Given the description of an element on the screen output the (x, y) to click on. 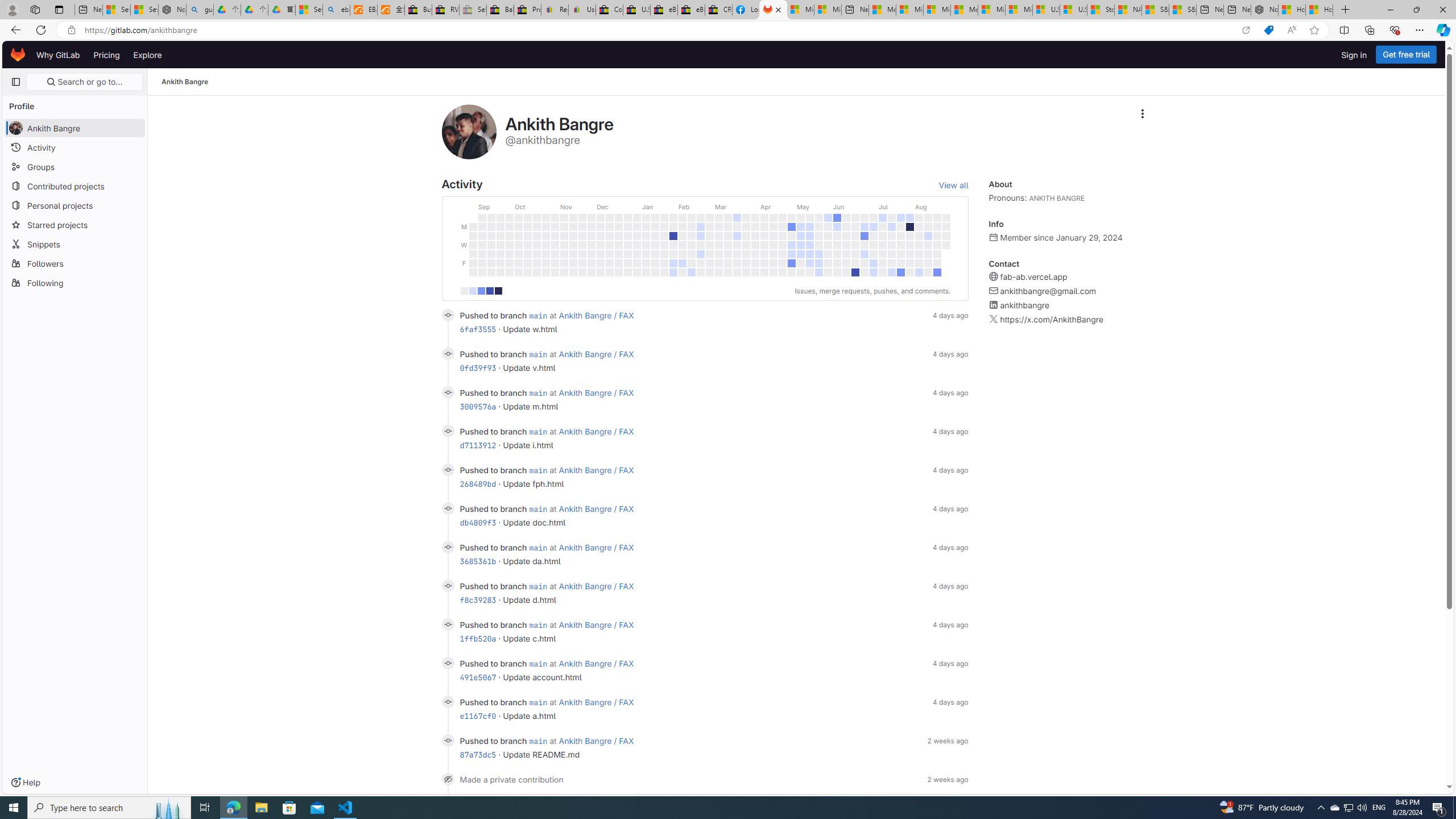
Personal projects (74, 205)
Following (74, 282)
87a73dc5 (478, 754)
Close (1442, 9)
main (537, 741)
